Given the description of an element on the screen output the (x, y) to click on. 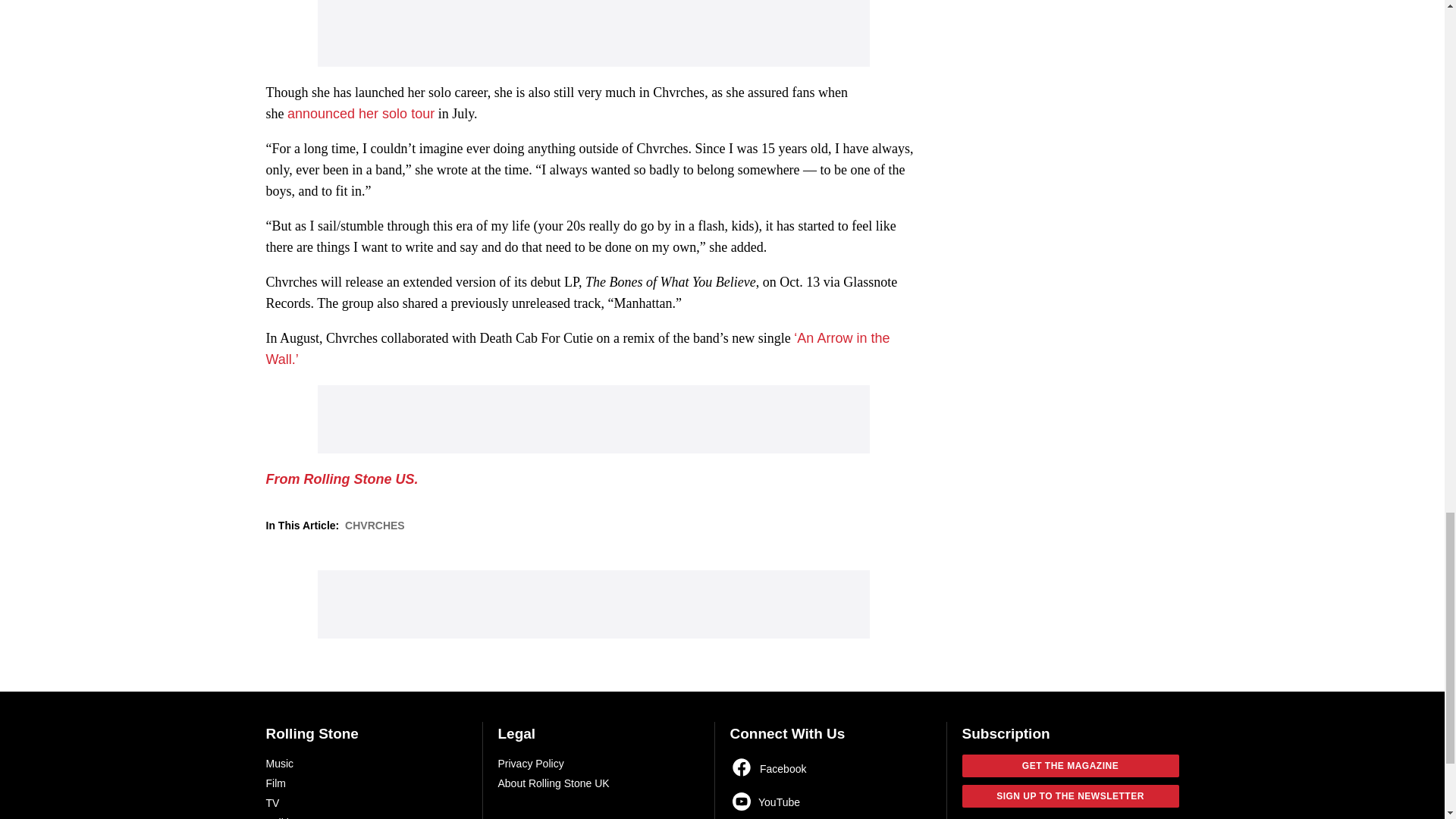
3rd party ad content (593, 604)
3rd party ad content (593, 33)
3rd party ad content (593, 418)
